Given the description of an element on the screen output the (x, y) to click on. 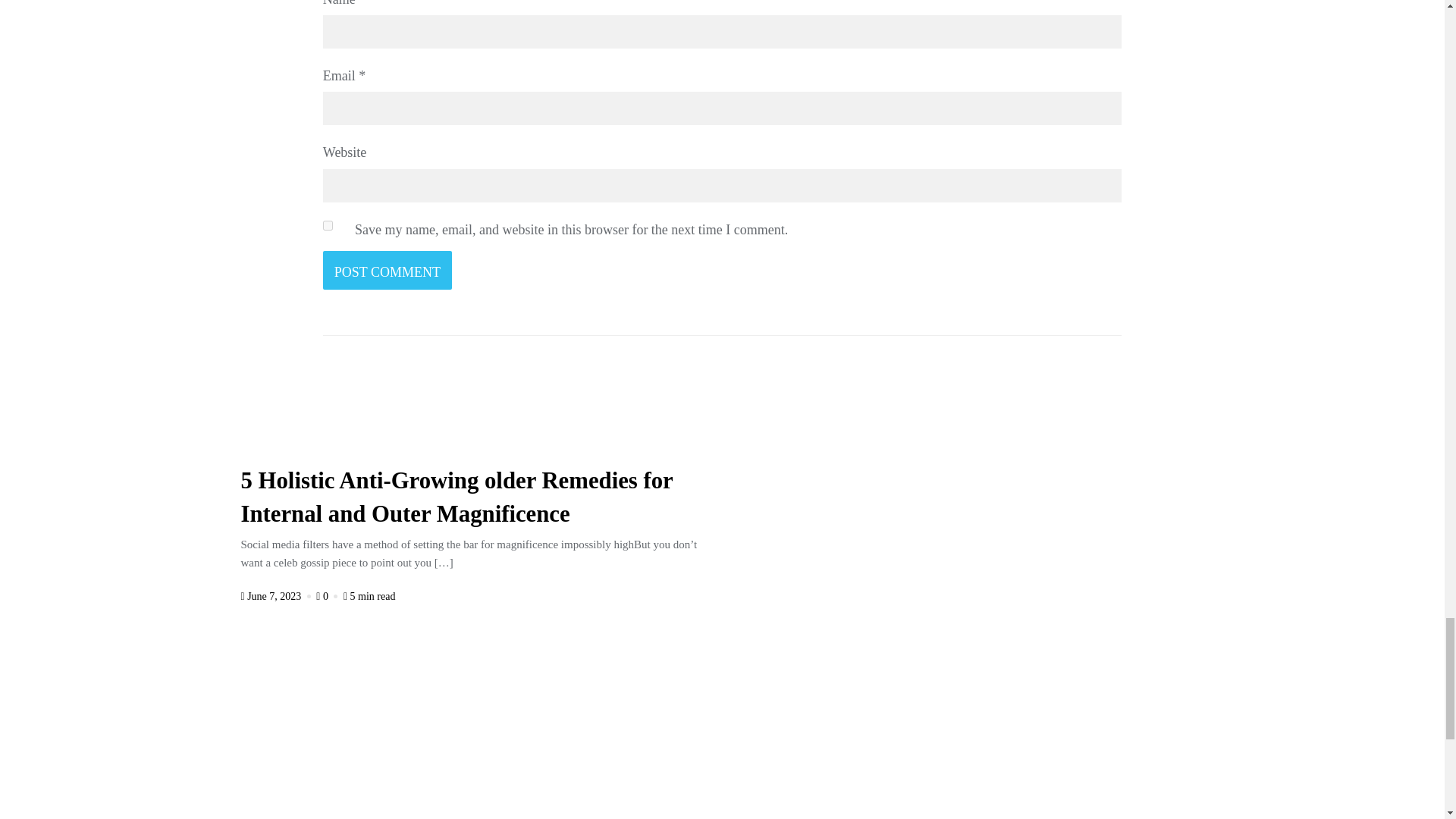
Post Comment (387, 269)
5 min read (369, 595)
June 7, 2023 (277, 595)
0 (327, 595)
yes (328, 225)
Post Comment (387, 269)
